Given the description of an element on the screen output the (x, y) to click on. 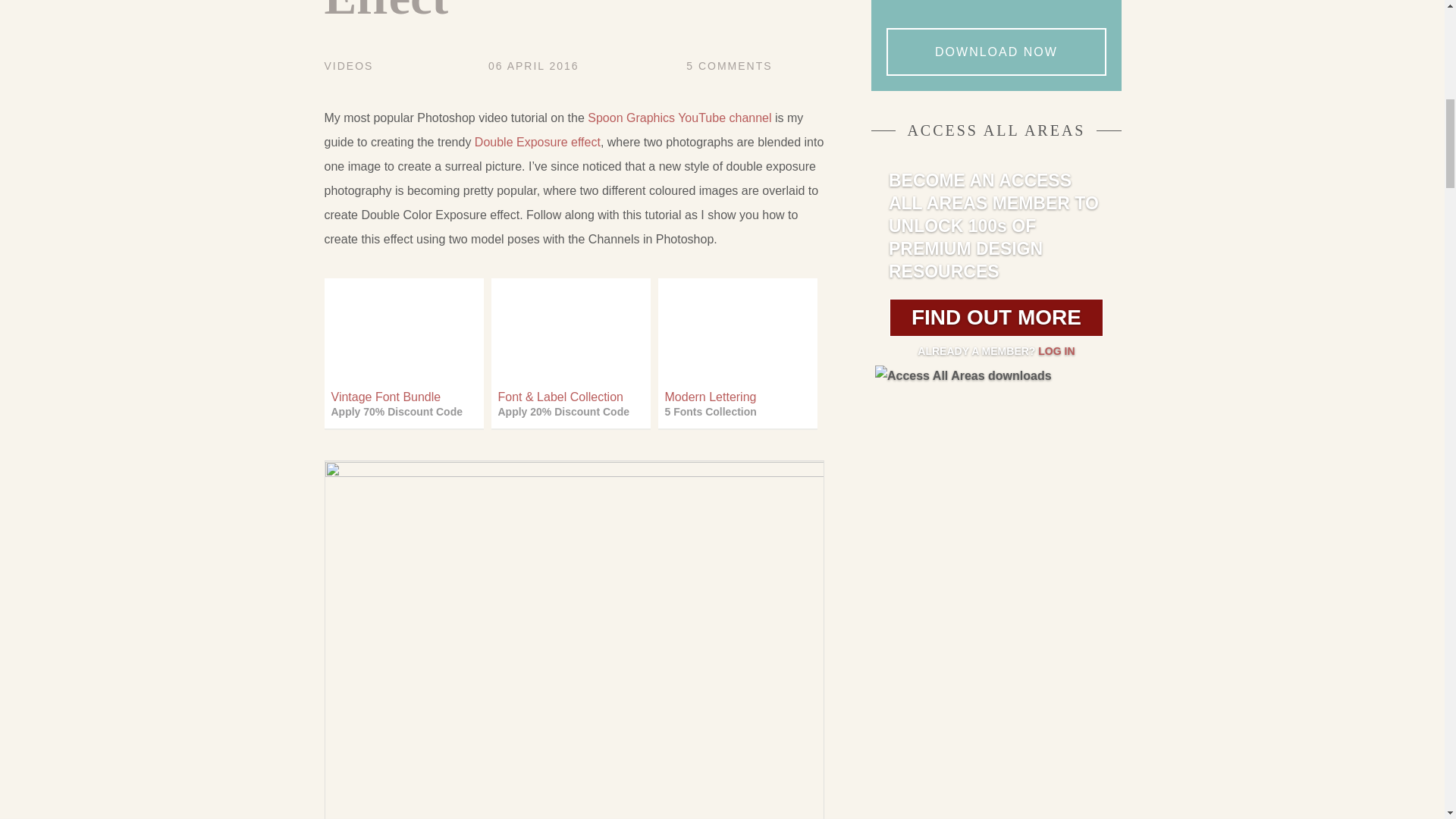
Spoon Graphics YouTube channel (679, 117)
06 APRIL 2016 (741, 357)
Double Exposure effect (533, 65)
VIDEOS (536, 141)
5 COMMENTS (349, 65)
